Given the description of an element on the screen output the (x, y) to click on. 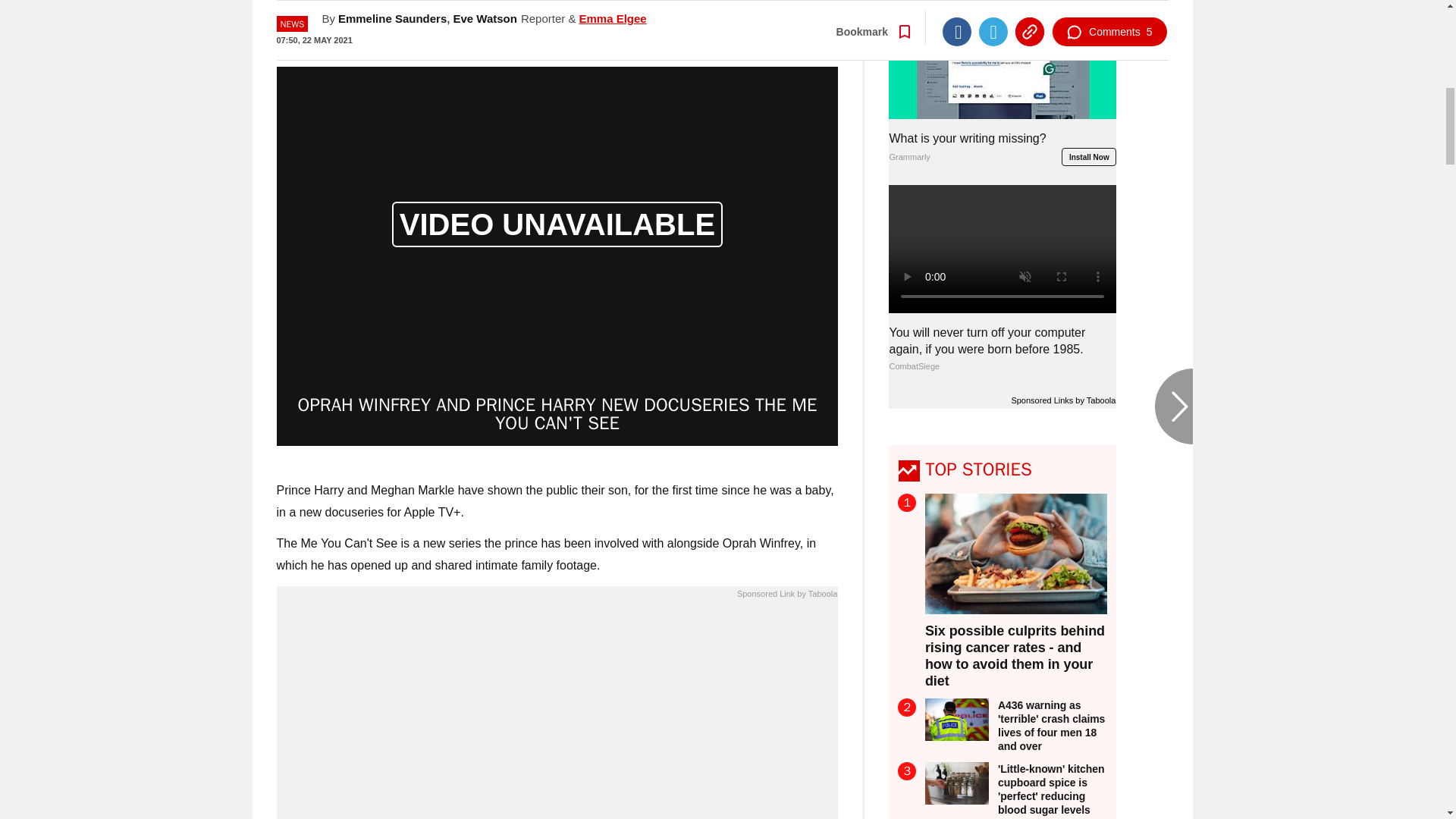
Go (730, 17)
What is your writing missing? (557, 713)
